Given the description of an element on the screen output the (x, y) to click on. 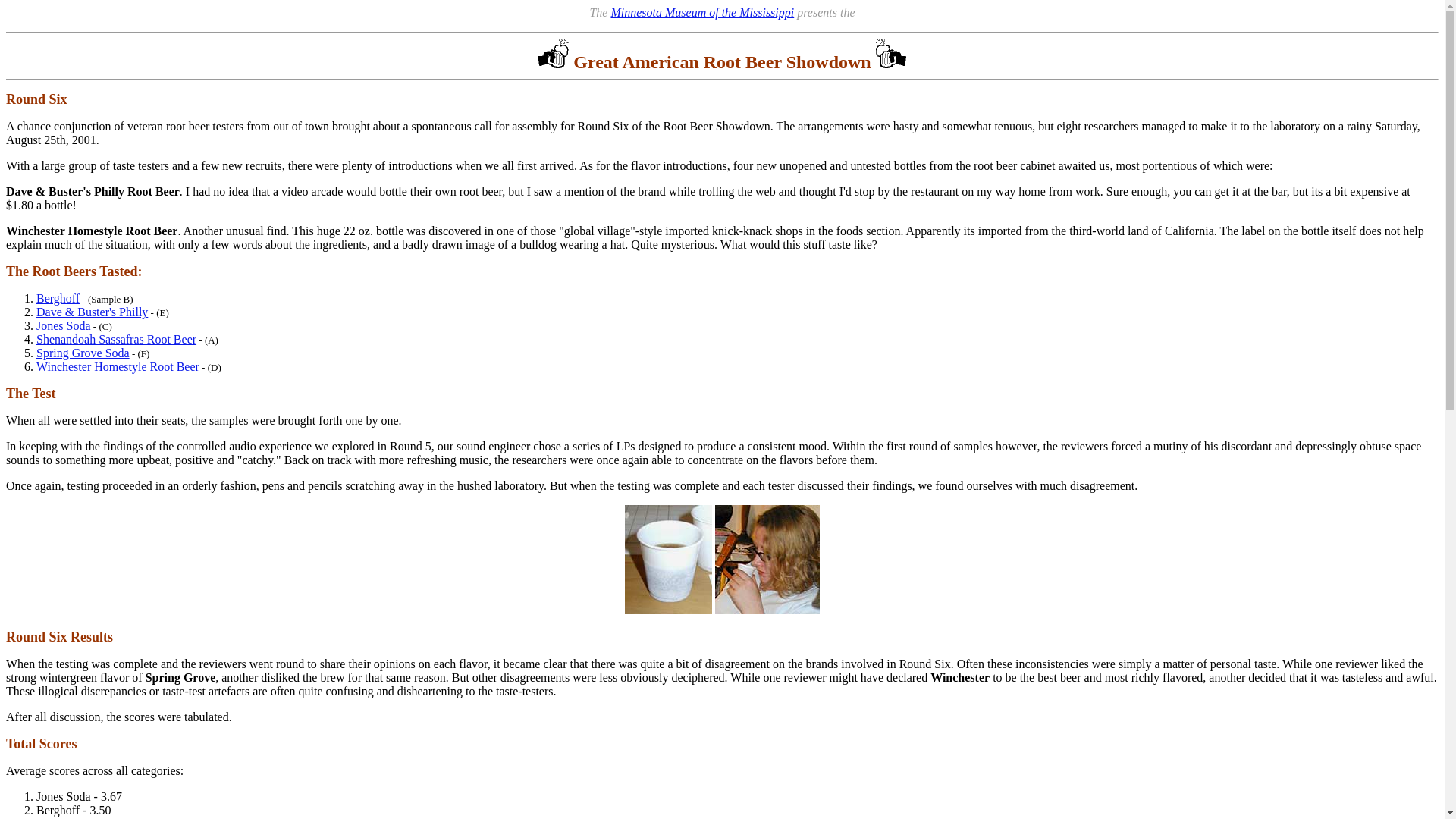
Shenandoah Sassafras Root Beer (116, 338)
Jones Soda (63, 325)
Minnesota Museum of the Mississippi (701, 11)
Spring Grove Soda (82, 352)
Berghoff (58, 297)
Winchester Homestyle Root Beer (117, 366)
